Given the description of an element on the screen output the (x, y) to click on. 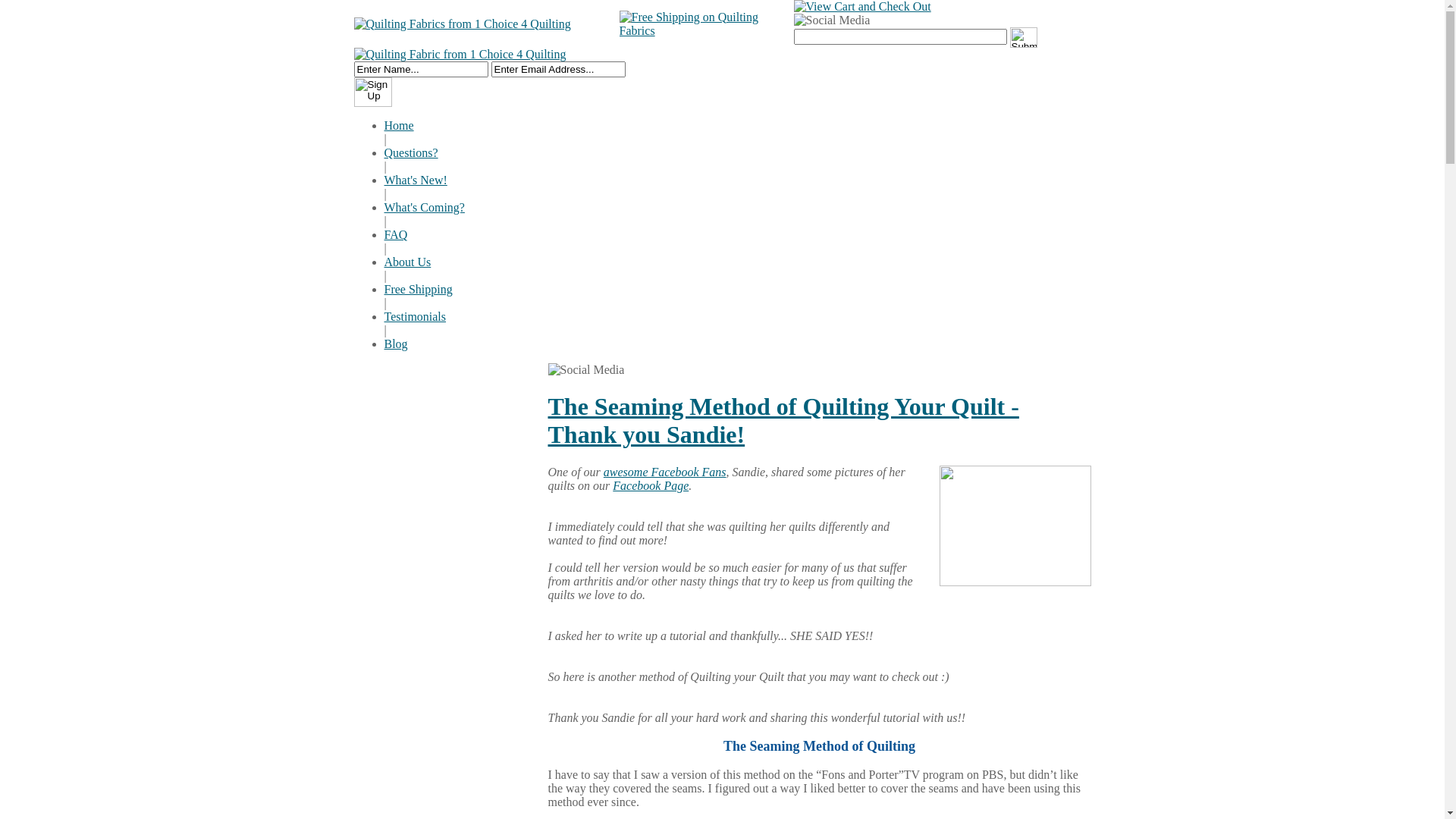
Questions? Element type: text (410, 152)
What's New! Element type: text (414, 179)
Testimonials Element type: text (414, 316)
What's Coming? Element type: text (423, 206)
Home Element type: text (398, 125)
Facebook Page Element type: text (650, 485)
awesome Facebook Fans Element type: text (664, 471)
FAQ Element type: text (395, 234)
About Us Element type: text (406, 261)
Free Shipping Element type: text (417, 288)
Blog Element type: text (395, 343)
